Given the description of an element on the screen output the (x, y) to click on. 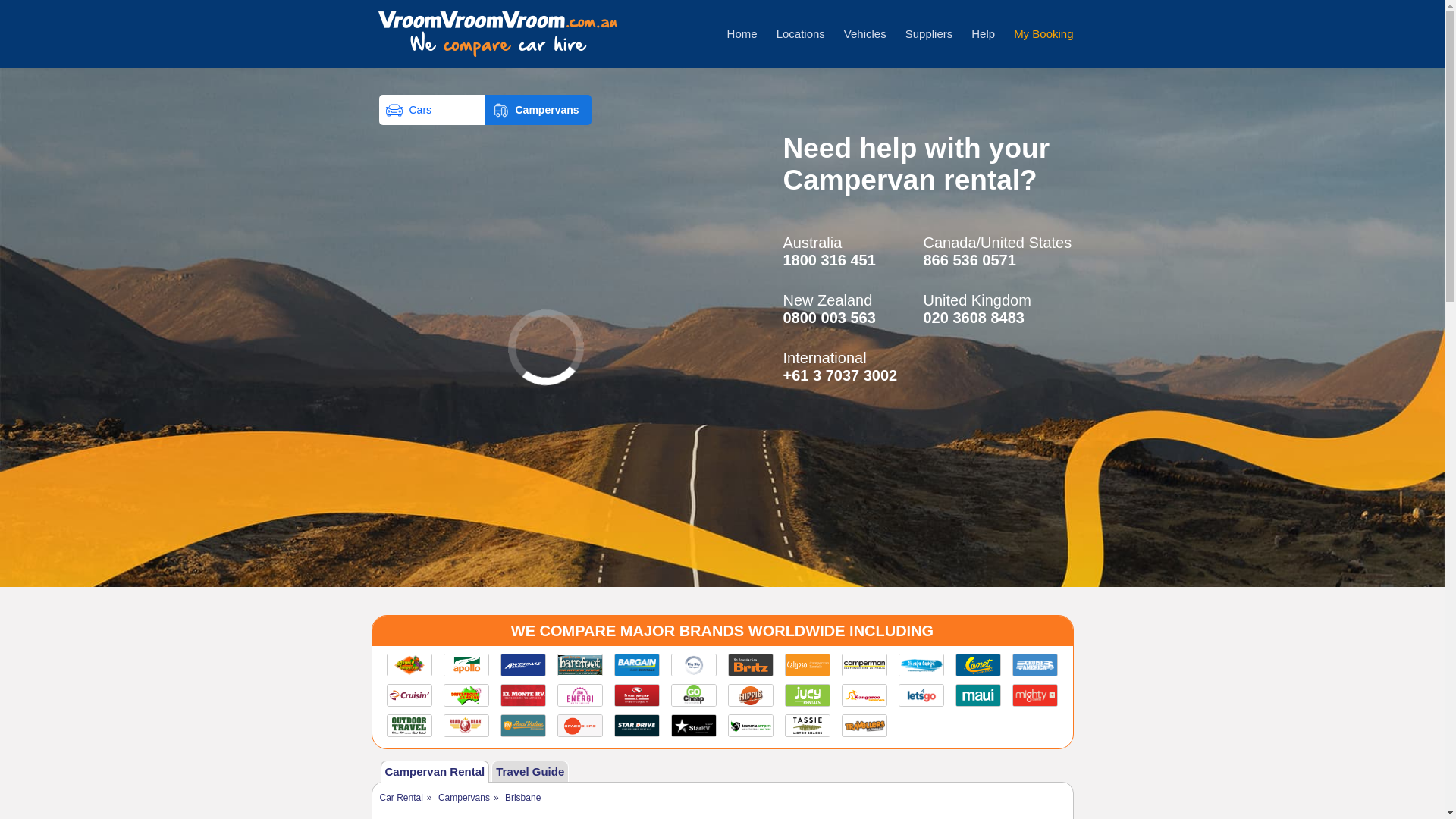
Locations (800, 33)
Home (741, 33)
Vehicles (865, 33)
Suppliers (929, 33)
